Given the description of an element on the screen output the (x, y) to click on. 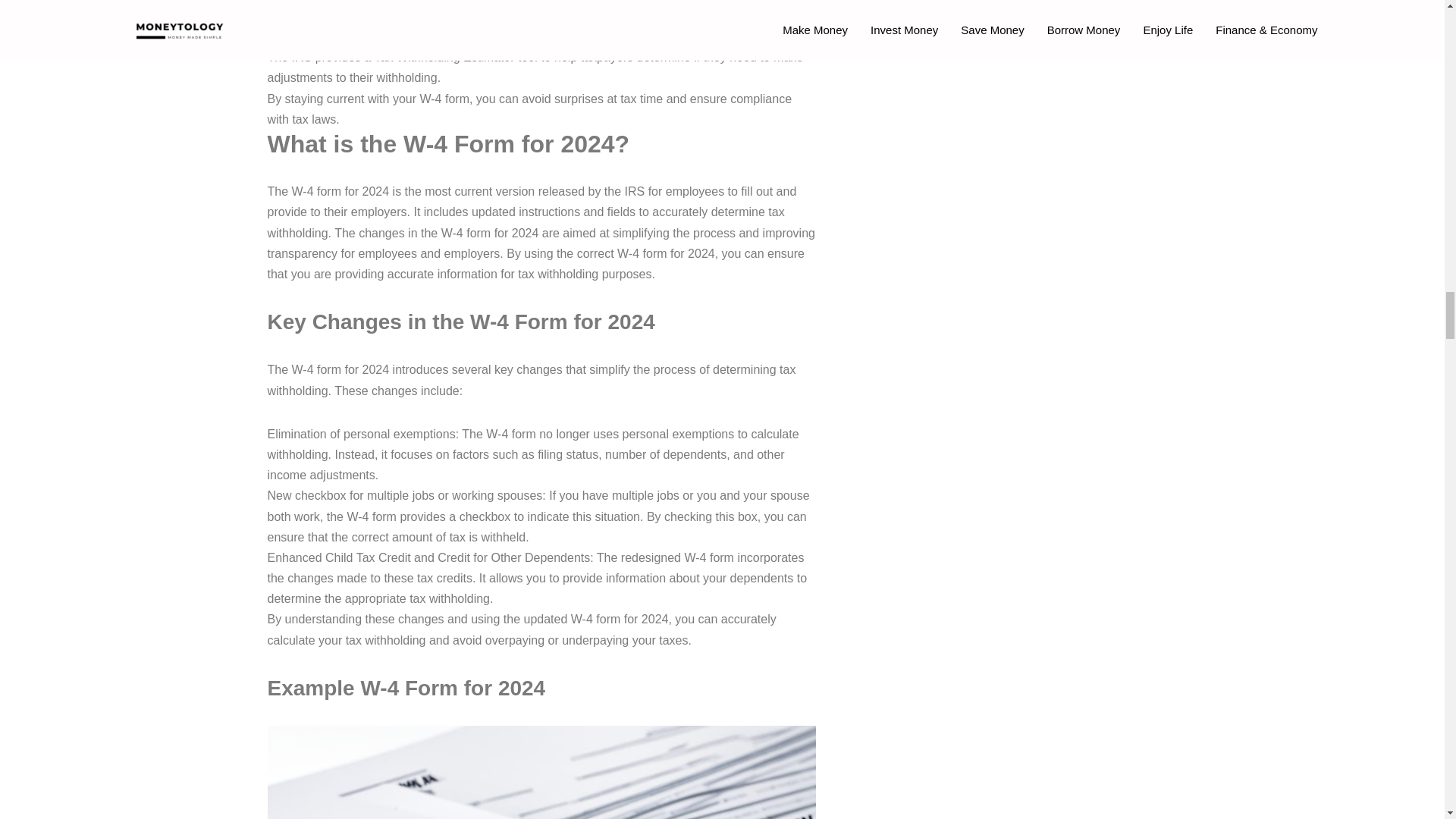
W-4 Form for 2024 (540, 772)
